Given the description of an element on the screen output the (x, y) to click on. 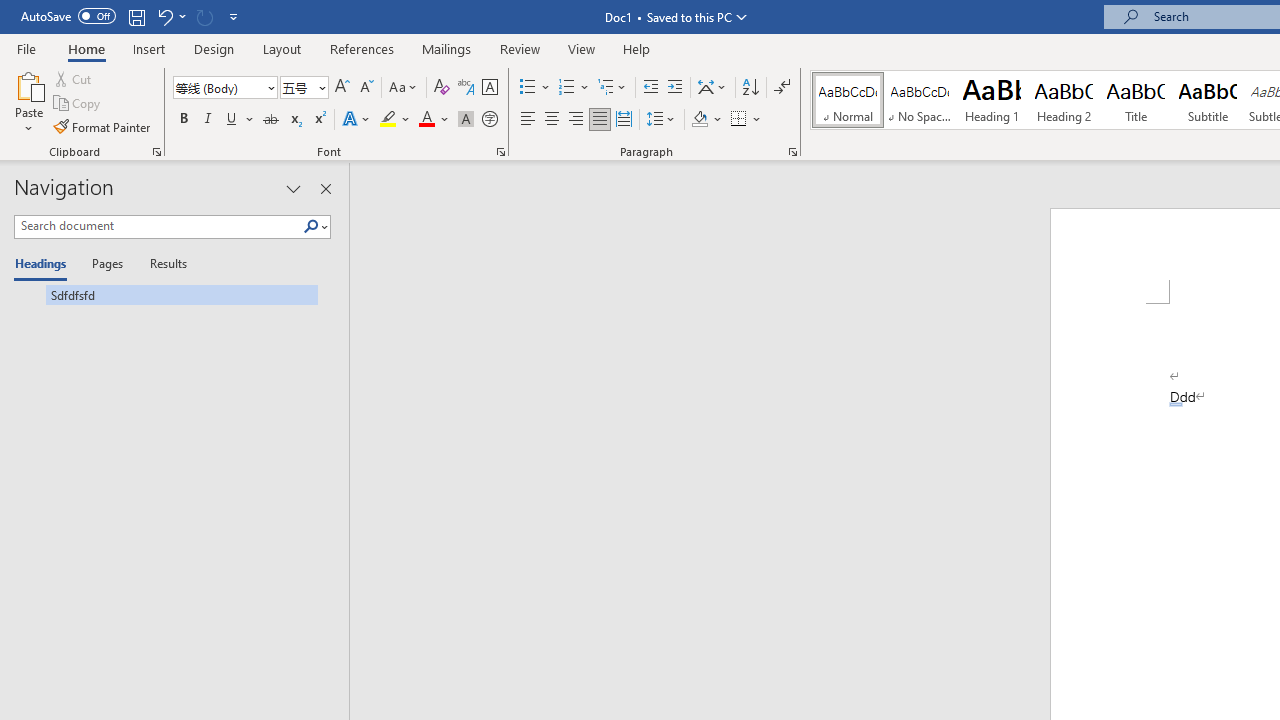
Search document (157, 226)
